Given the description of an element on the screen output the (x, y) to click on. 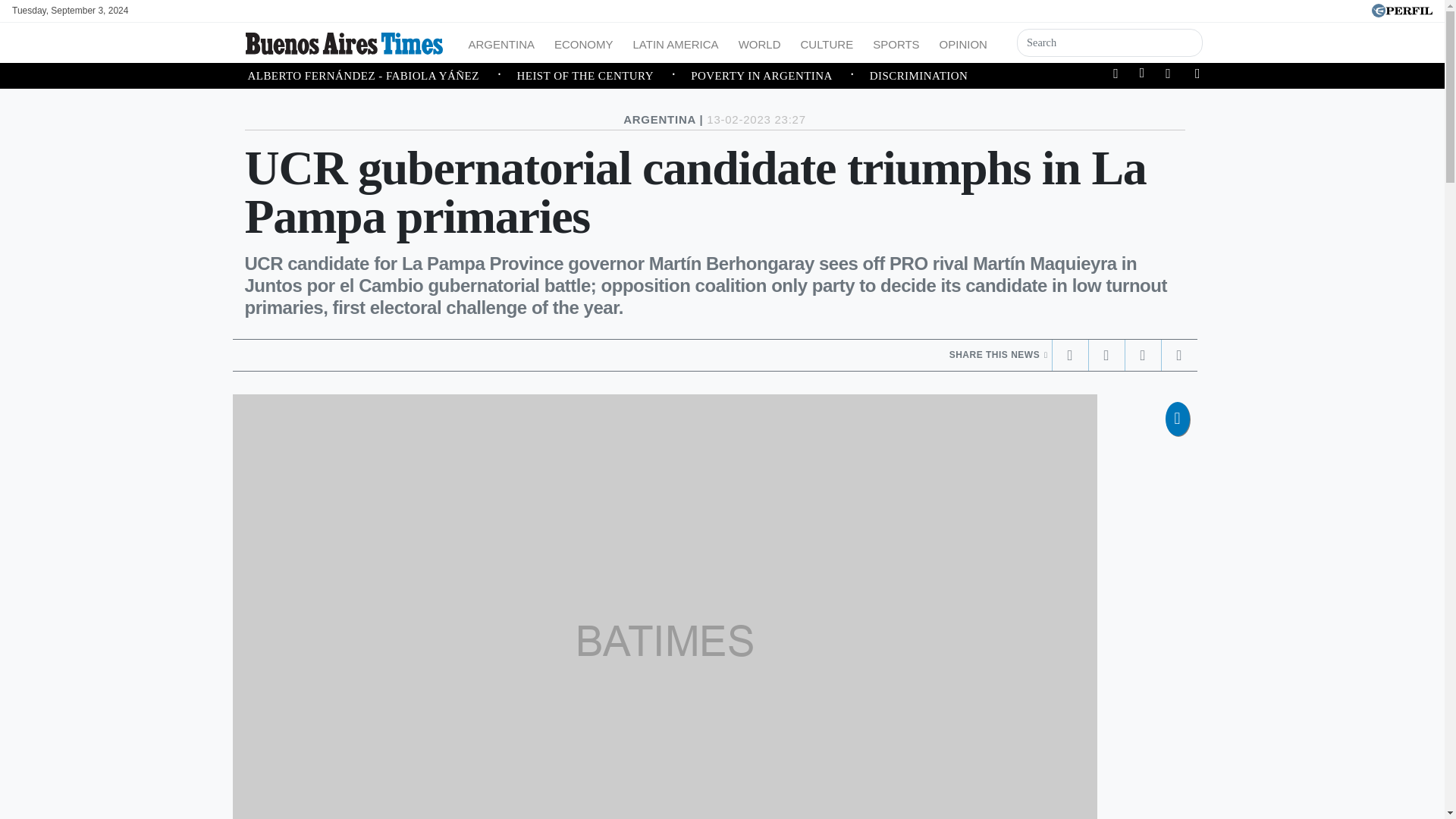
Culture (826, 42)
Opinion And Analysis (962, 42)
HEIST OF THE CENTURY (603, 75)
Latin America (676, 42)
ECONOMY (584, 42)
World (759, 42)
OPINION (962, 42)
CULTURE (826, 42)
WORLD (759, 42)
